Given the description of an element on the screen output the (x, y) to click on. 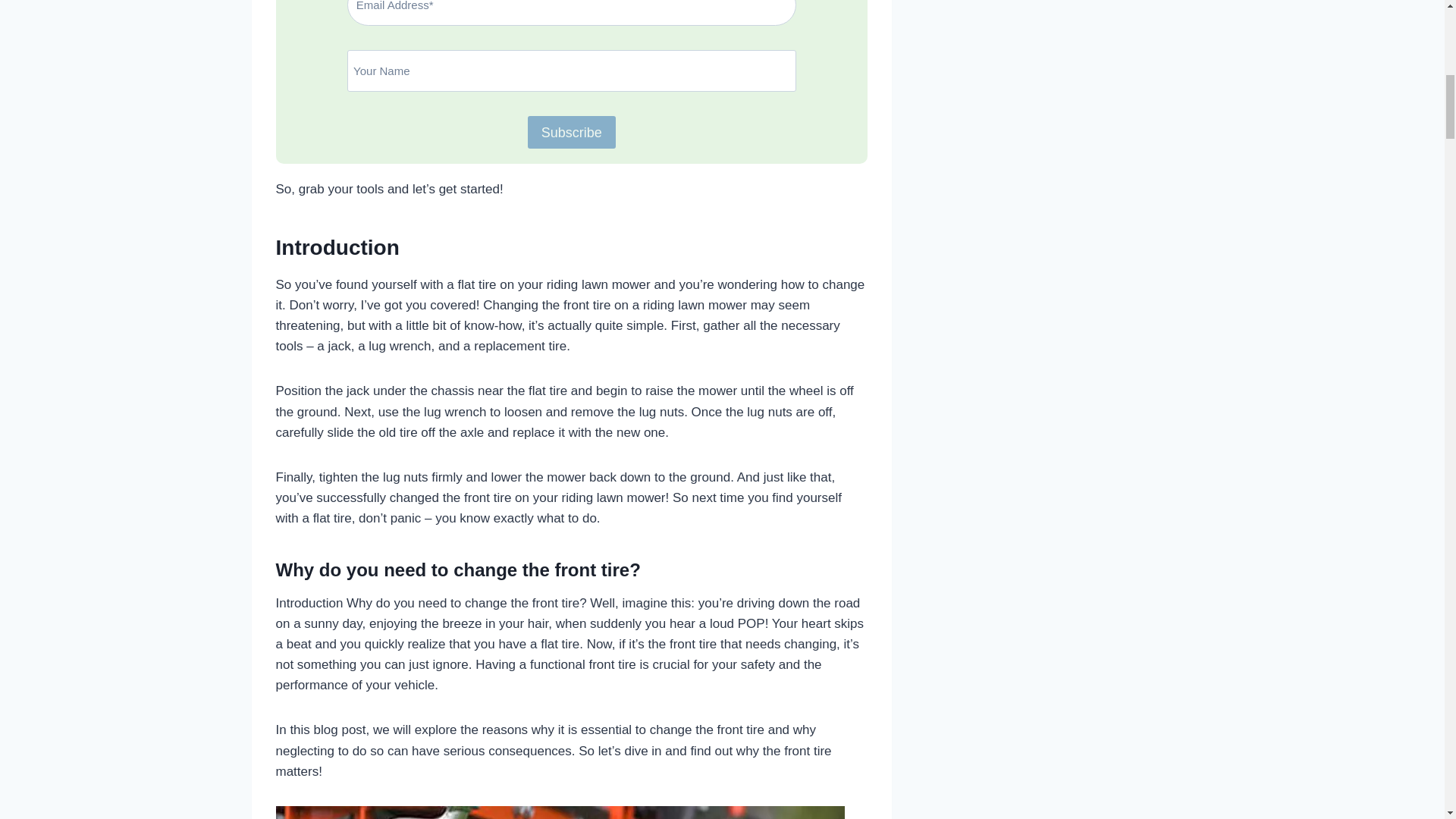
Subscribe (571, 132)
Subscribe (571, 132)
